Given the description of an element on the screen output the (x, y) to click on. 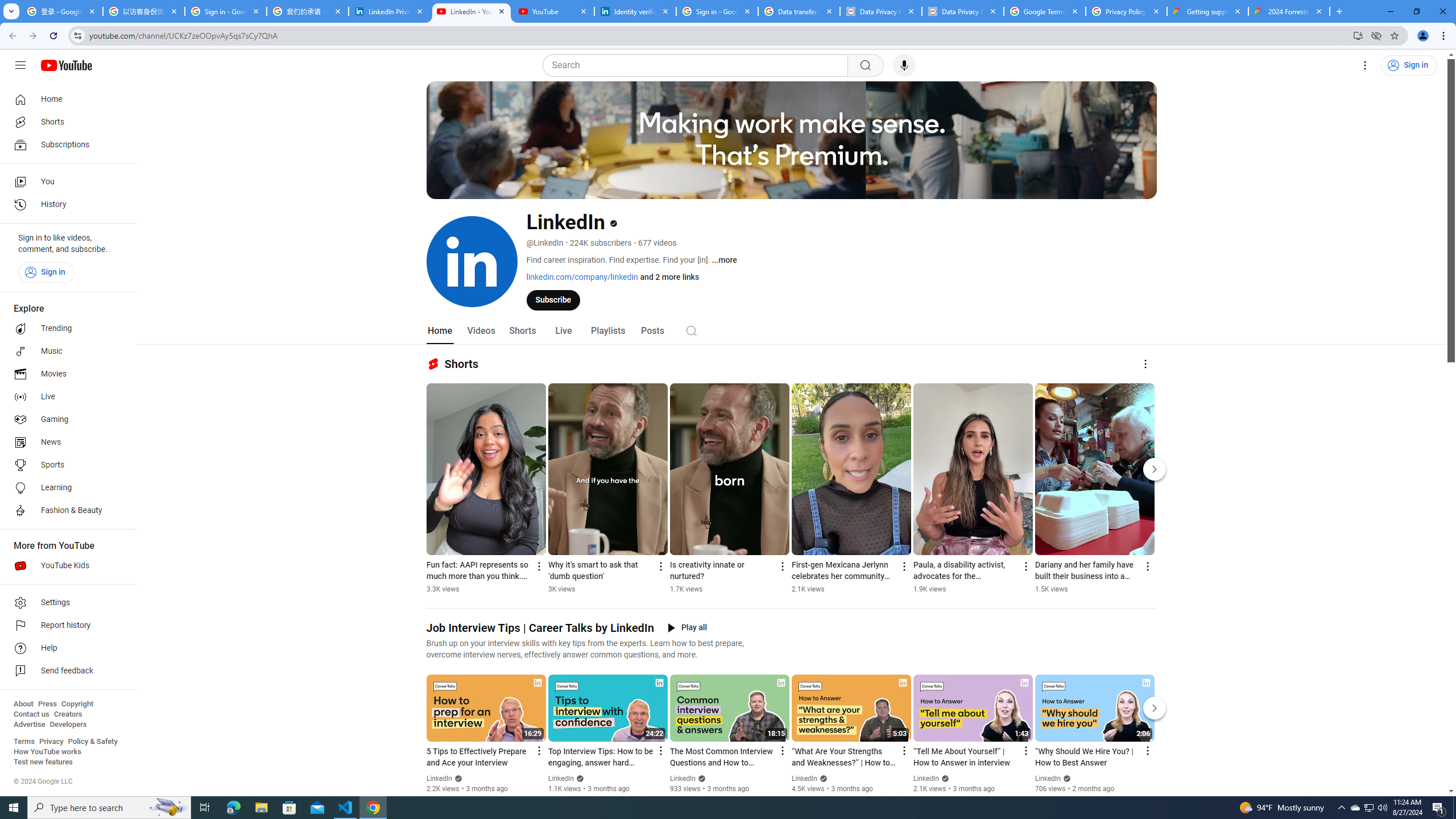
Shorts (64, 121)
Shorts (521, 330)
Third-party cookies blocked (1376, 35)
Subscribe (552, 299)
Videos (481, 330)
Press (46, 703)
Identity verification via Persona | LinkedIn Help (635, 11)
Home (440, 330)
Copyright (77, 703)
Policy & Safety (91, 741)
Search (697, 65)
